Given the description of an element on the screen output the (x, y) to click on. 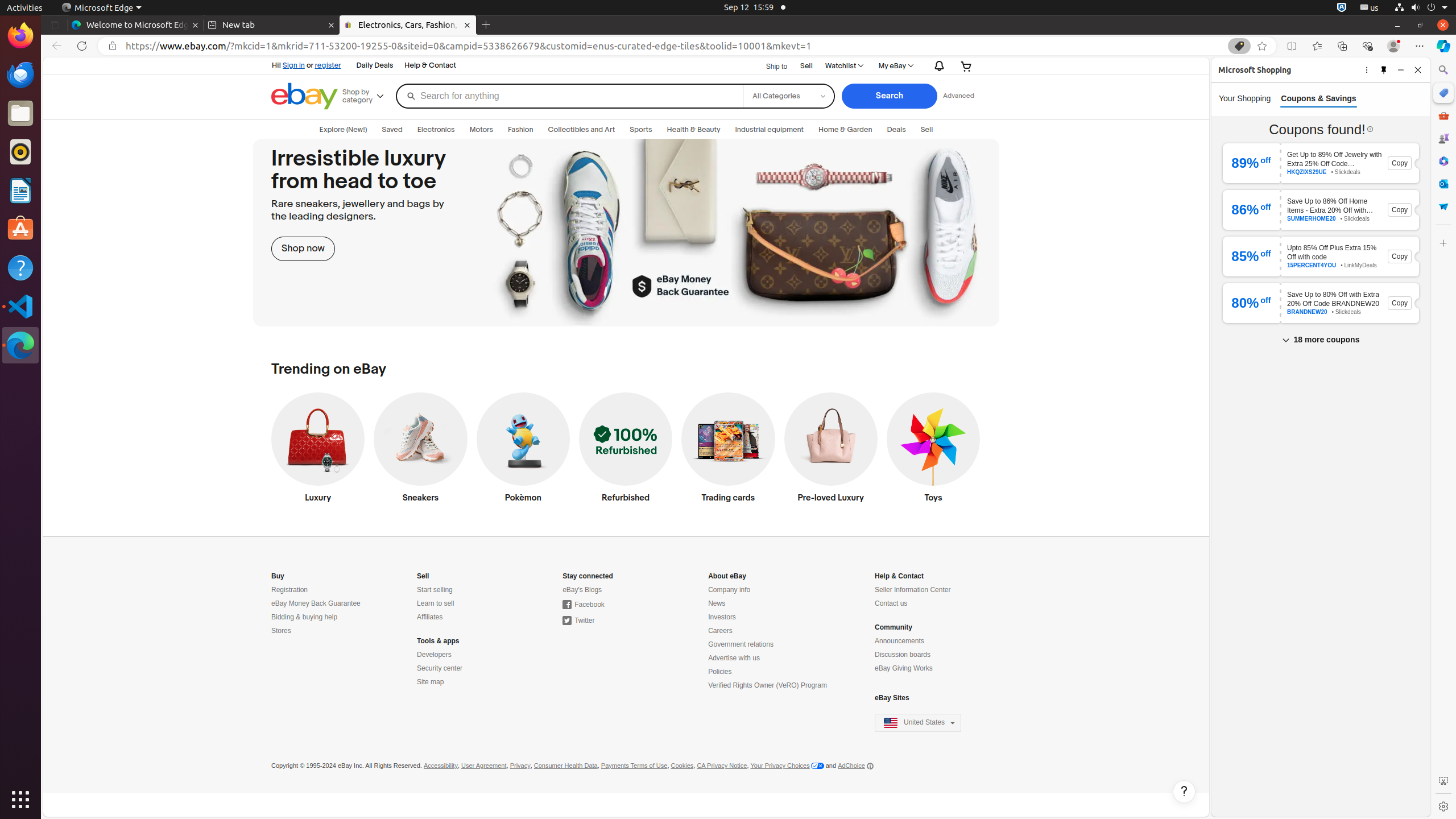
My eBay Element type: link (894, 65)
Firefox Web Browser Element type: push-button (20, 35)
Collectibles and Art Element type: link (581, 129)
Drop Element type: push-button (1443, 206)
Back Element type: push-button (54, 45)
